Given the description of an element on the screen output the (x, y) to click on. 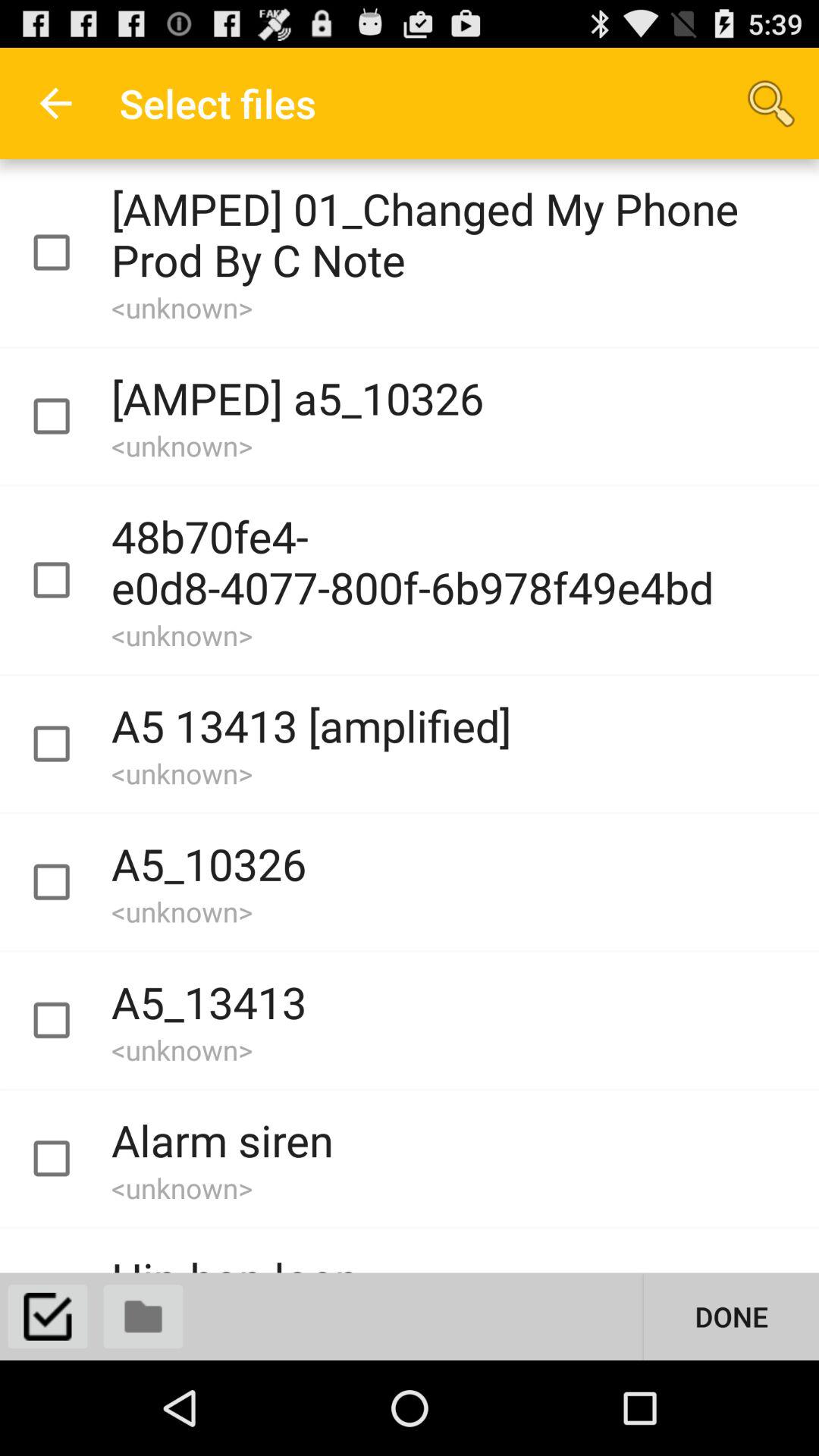
selection button (47, 1316)
